Given the description of an element on the screen output the (x, y) to click on. 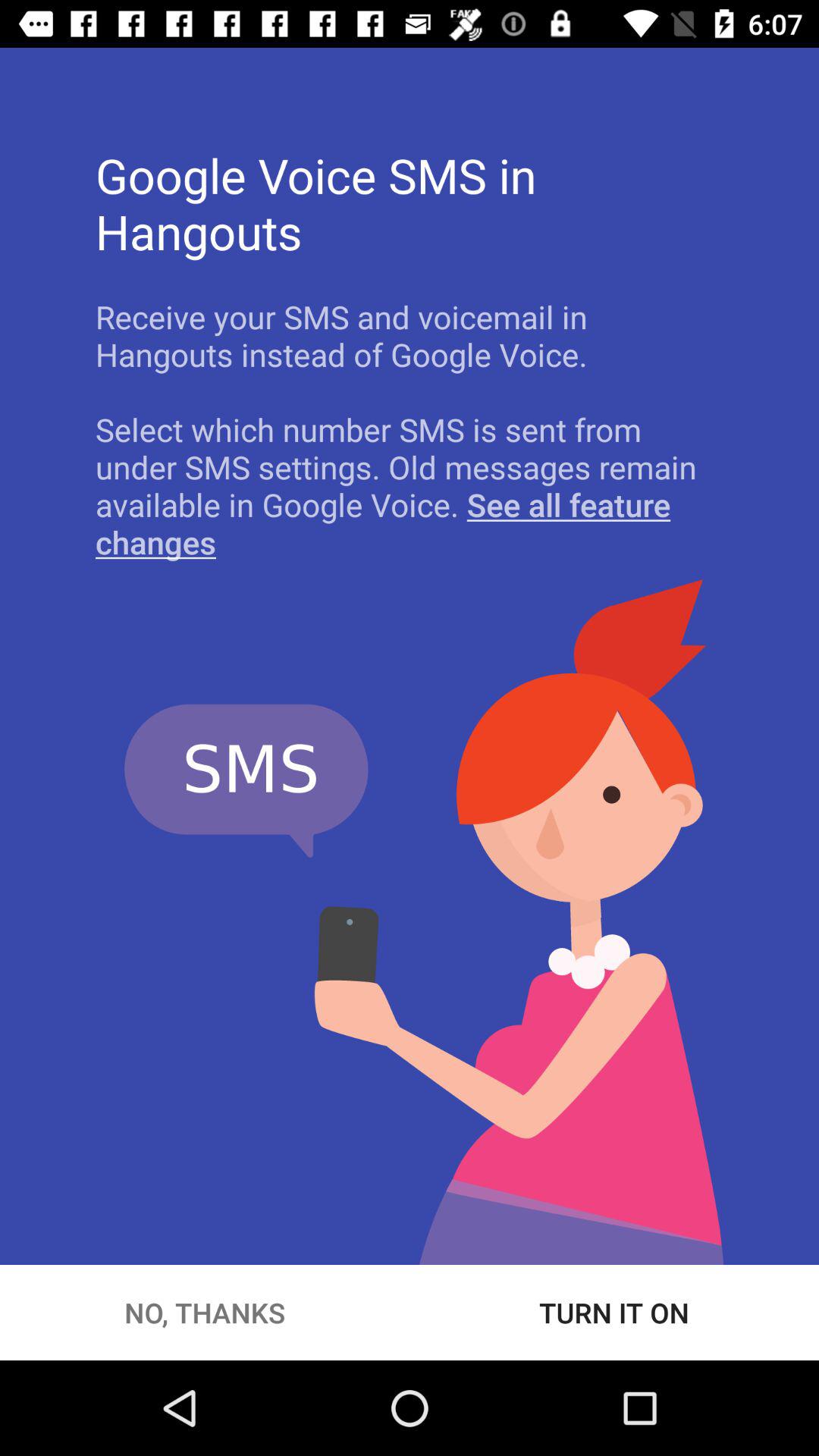
select the icon to the right of no, thanks item (614, 1312)
